Given the description of an element on the screen output the (x, y) to click on. 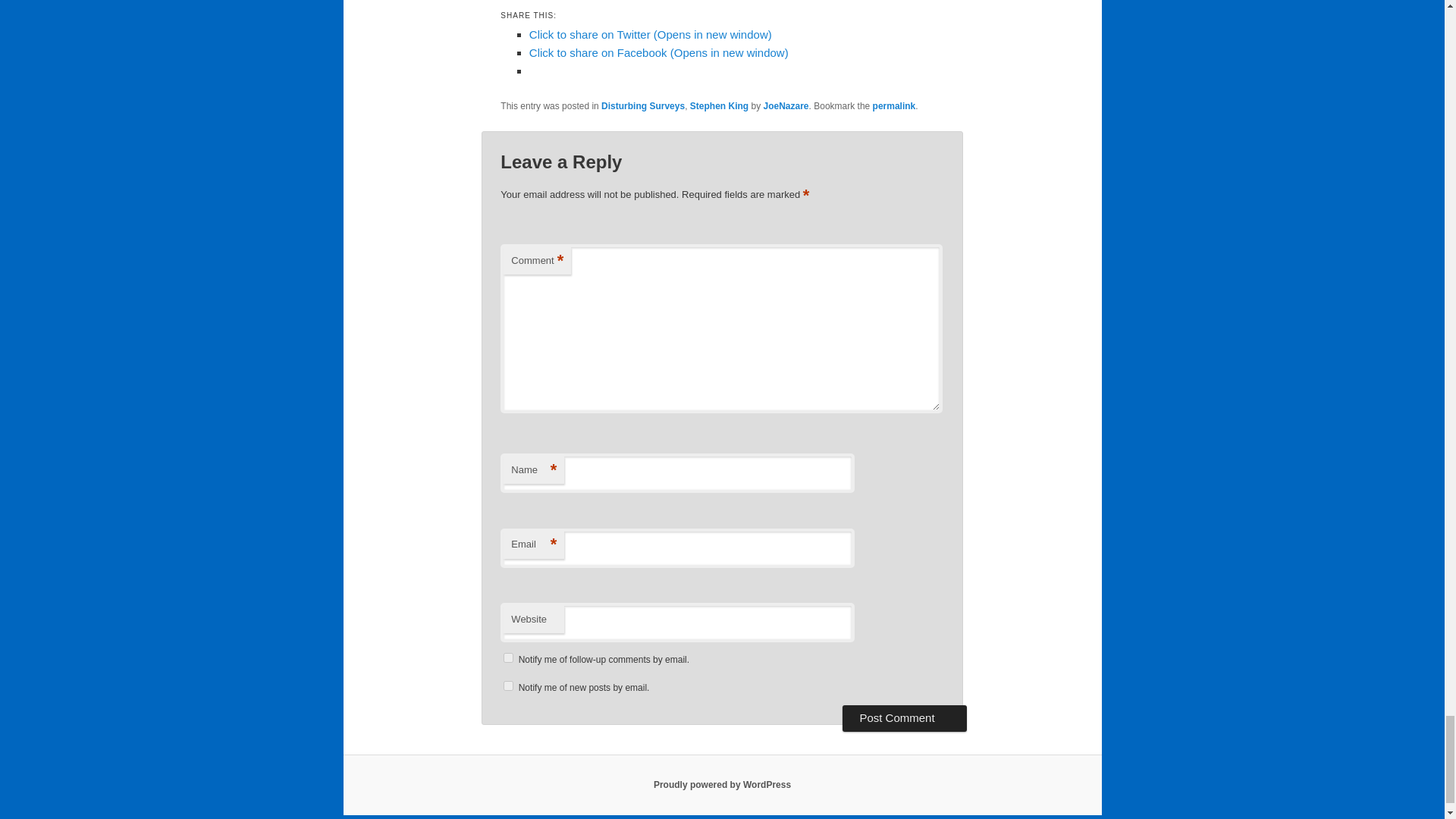
JoeNazare (785, 105)
Click to share on Twitter (650, 33)
Post Comment (904, 718)
subscribe (508, 685)
Click to share on Facebook (659, 51)
Semantic Personal Publishing Platform (721, 784)
permalink (893, 105)
Stephen King (719, 105)
subscribe (508, 657)
Permalink to 2017 Supreme (893, 105)
